Given the description of an element on the screen output the (x, y) to click on. 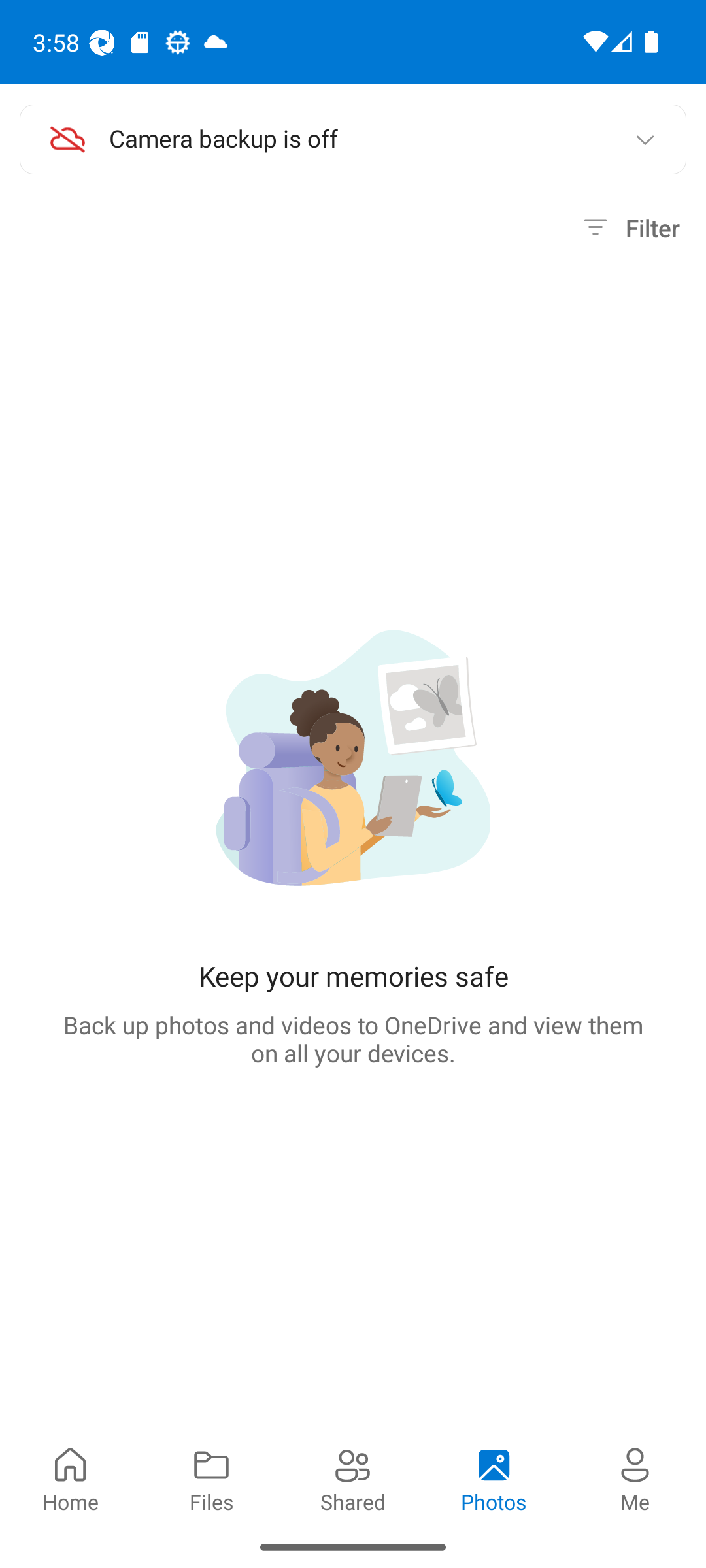
Expand camera status banner (645, 139)
Filter (628, 227)
Home pivot Home (70, 1478)
Files pivot Files (211, 1478)
Shared pivot Shared (352, 1478)
Me pivot Me (635, 1478)
